Given the description of an element on the screen output the (x, y) to click on. 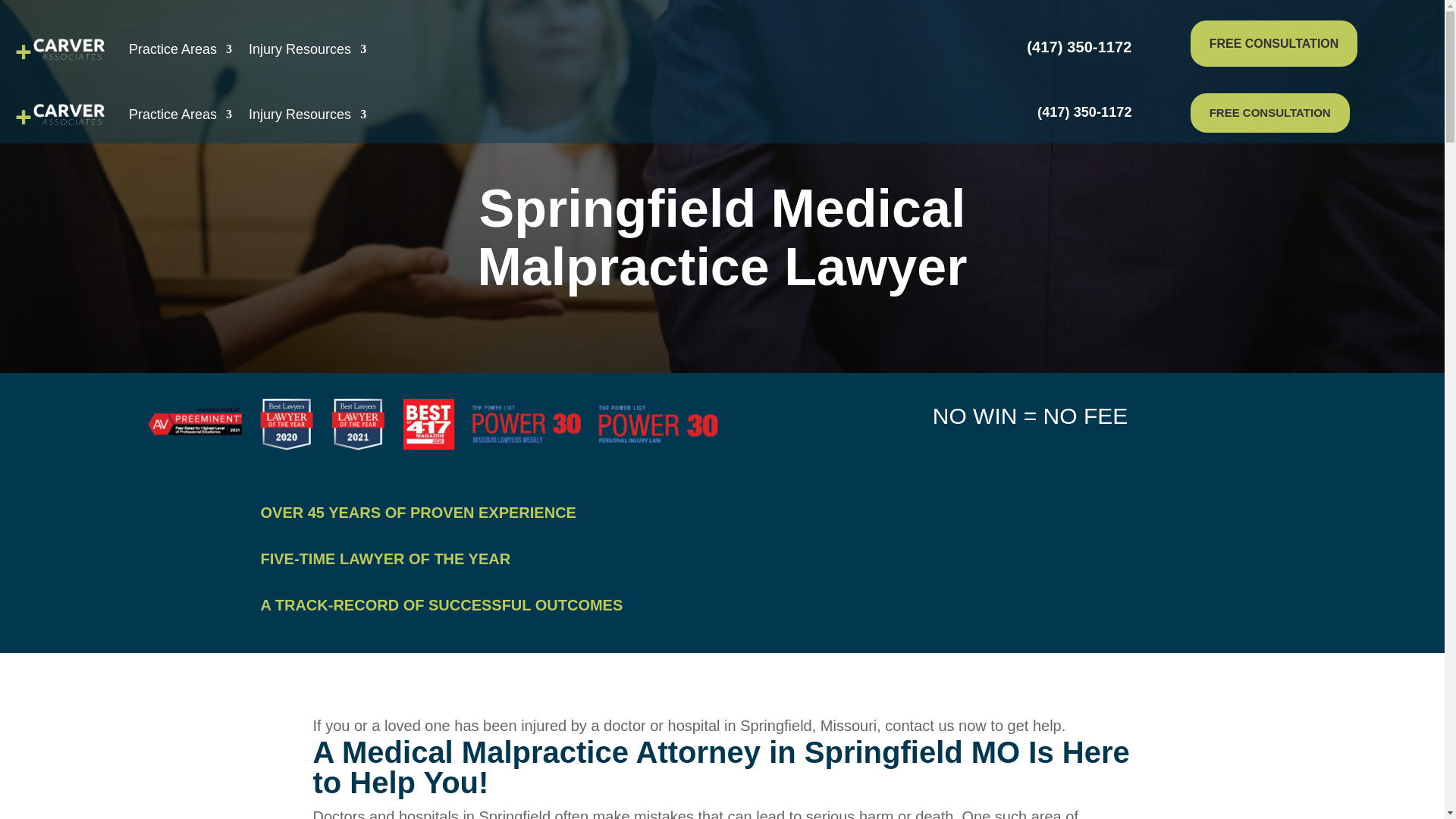
Injury Resources (307, 48)
Practice Areas (180, 114)
awards carver law final min (433, 424)
FREE CONSULTATION (1274, 43)
FREE CONSULTATION (1270, 112)
Injury Resources (307, 114)
Practice Areas (180, 48)
